Given the description of an element on the screen output the (x, y) to click on. 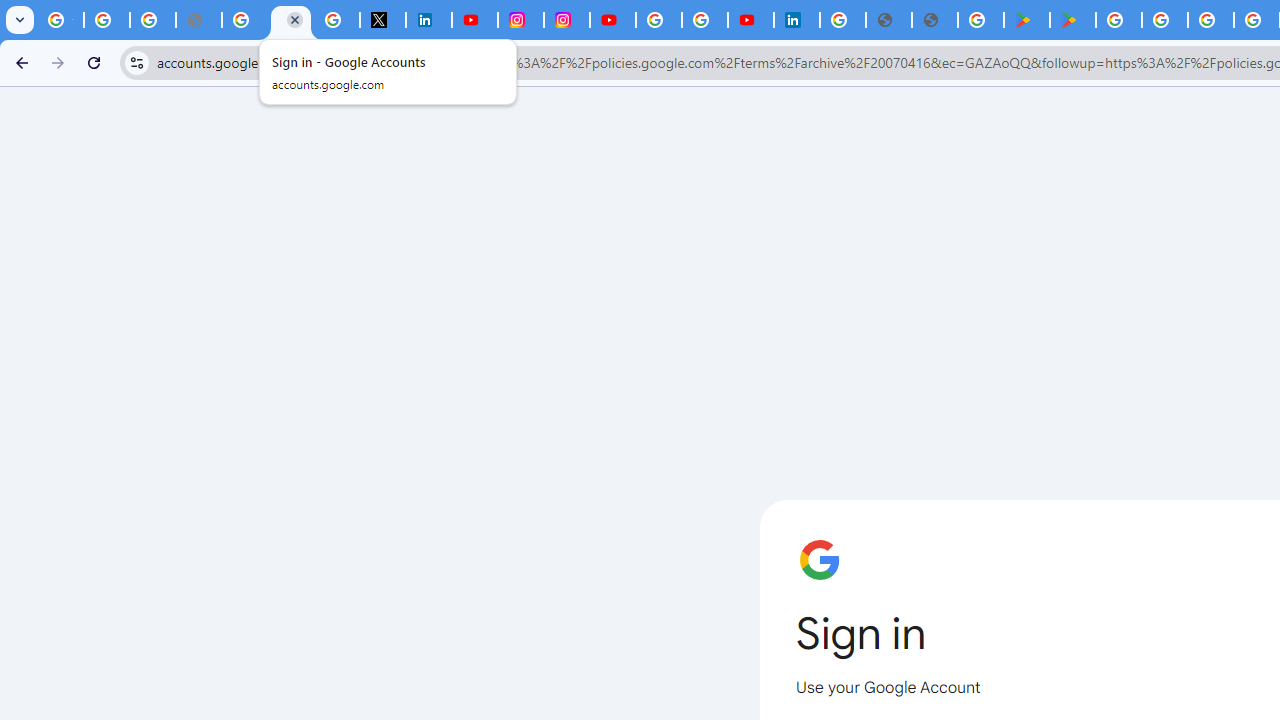
User Details (934, 20)
Sign in - Google Accounts (290, 20)
